Given the description of an element on the screen output the (x, y) to click on. 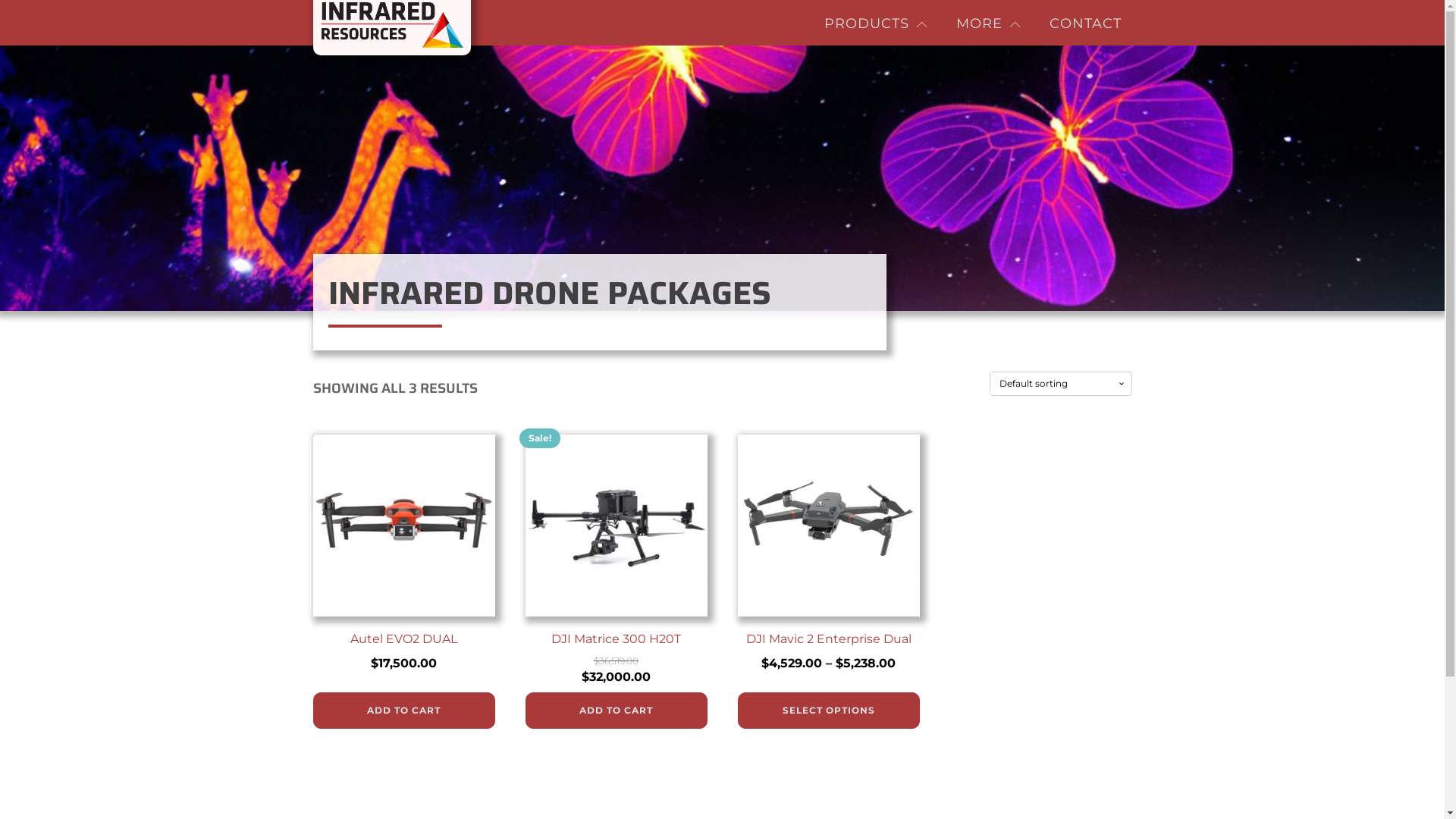
Autel EVO2 DUAL
$17,500.00 Element type: text (403, 556)
Sale!
DJI Matrice 300 H20T
$36,519.00
$32,000.00 Element type: text (615, 563)
ADD TO CART Element type: text (615, 710)
SELECT OPTIONS Element type: text (828, 710)
ADD TO CART Element type: text (403, 710)
